Given the description of an element on the screen output the (x, y) to click on. 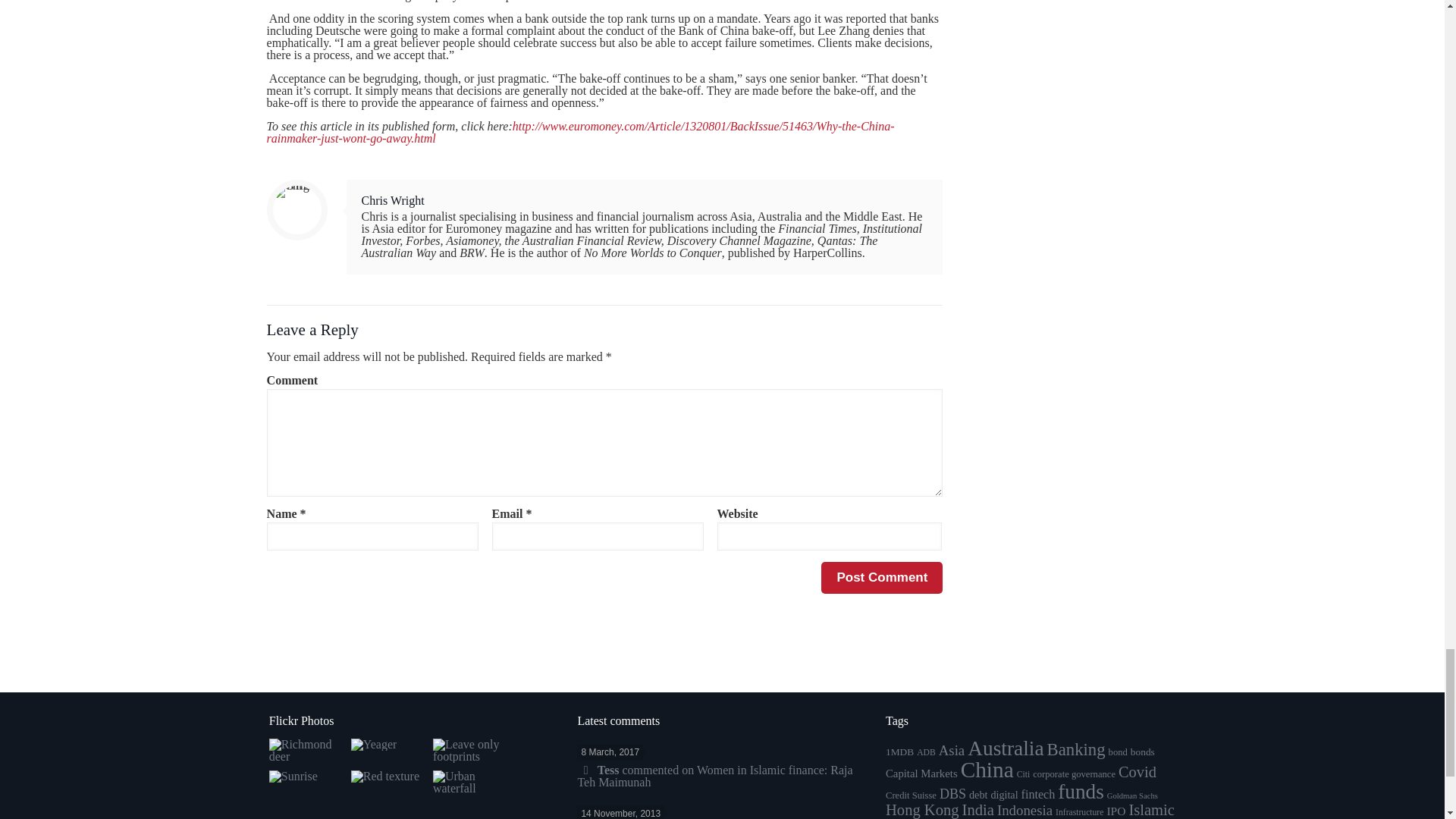
Post Comment (881, 577)
